Given the description of an element on the screen output the (x, y) to click on. 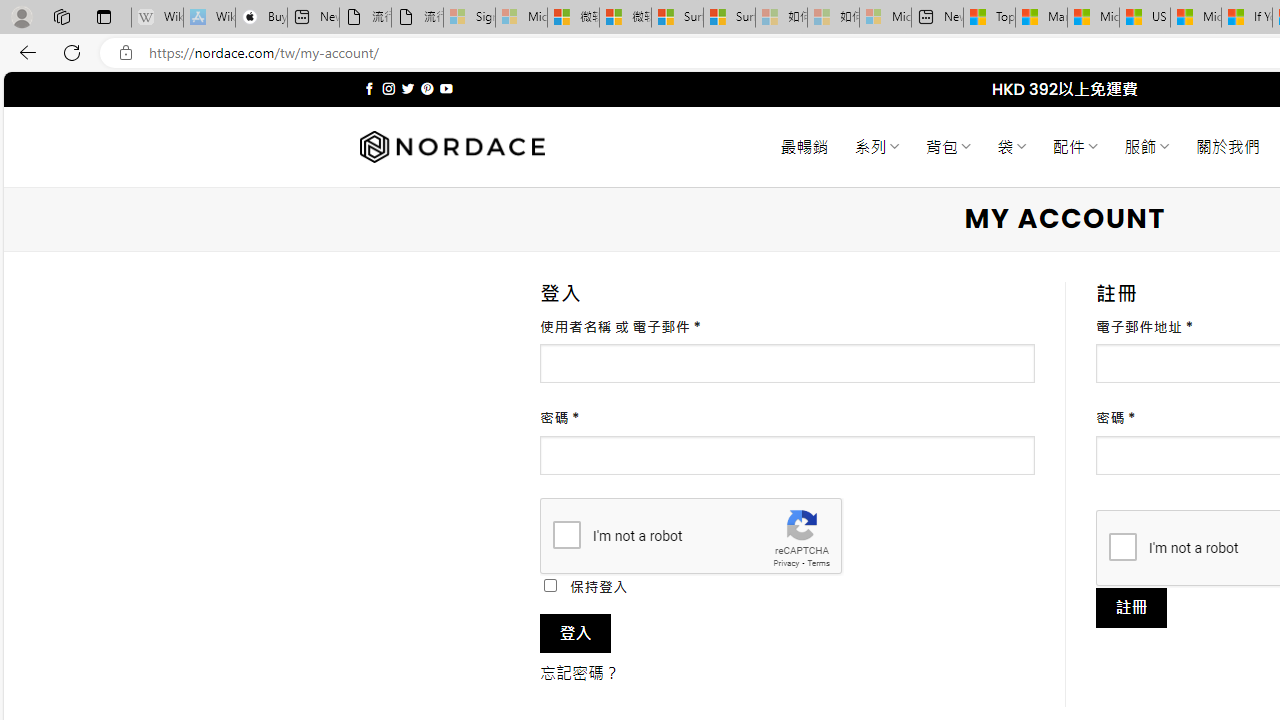
Terms (818, 562)
Follow on Instagram (388, 88)
